Given the description of an element on the screen output the (x, y) to click on. 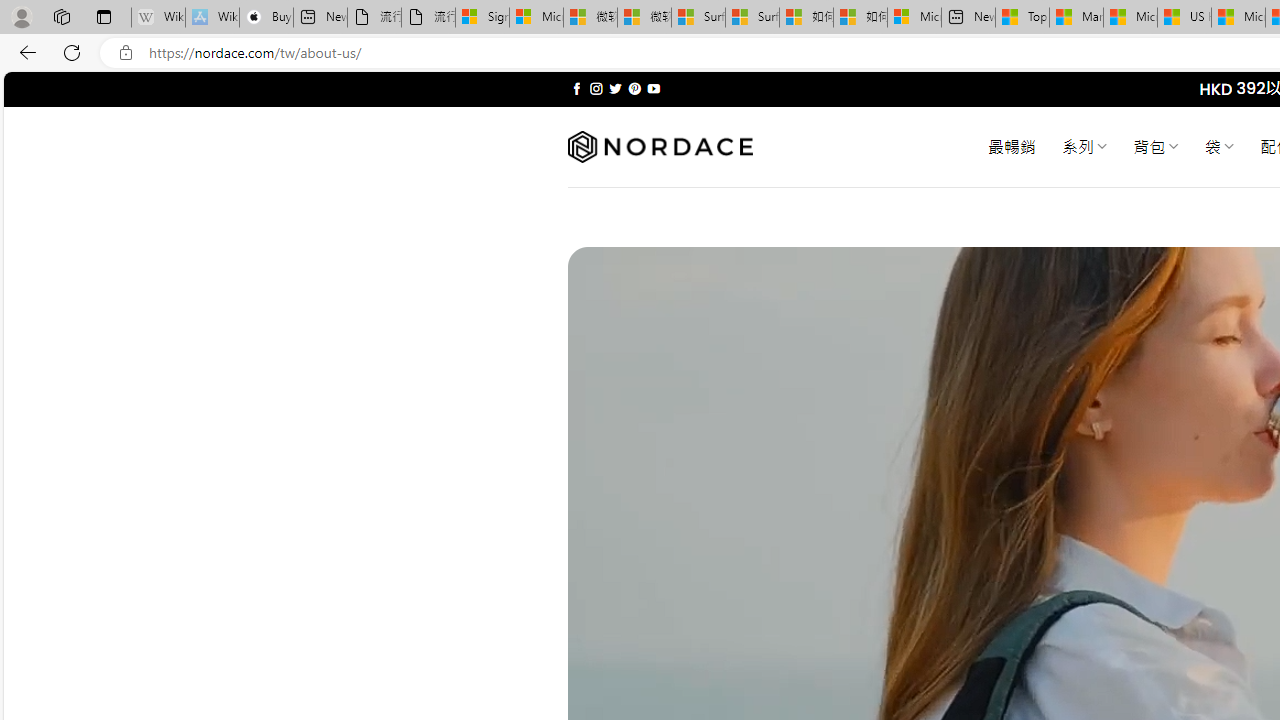
Follow on YouTube (653, 88)
Follow on Pinterest (634, 88)
Microsoft account | Account Checkup (914, 17)
Marine life - MSN (1076, 17)
